Given the description of an element on the screen output the (x, y) to click on. 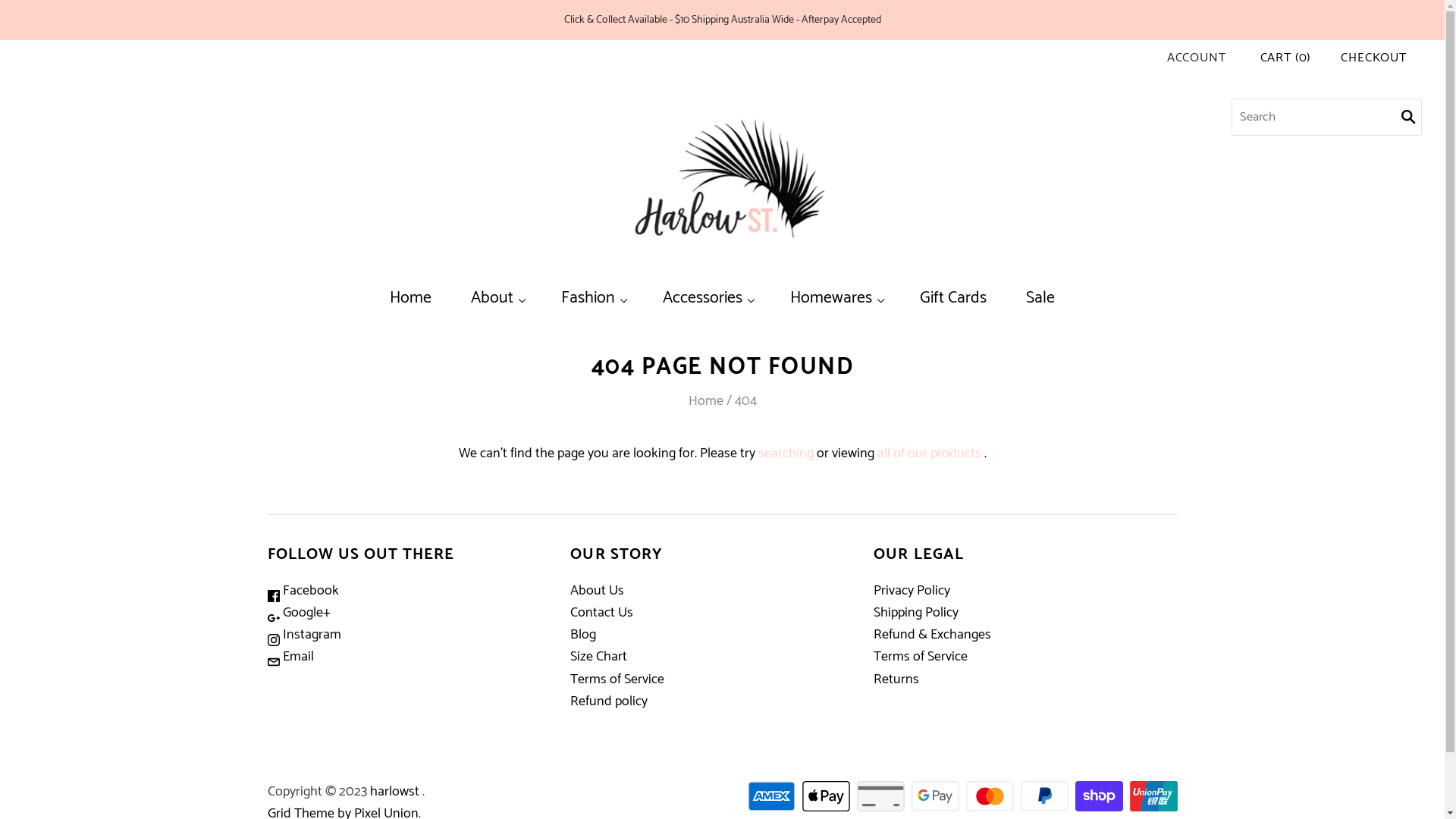
Accessories Element type: text (706, 298)
Terms of Service Element type: text (920, 656)
Gift Cards Element type: text (953, 298)
all of our products Element type: text (928, 453)
searching Element type: text (785, 453)
Home Element type: text (705, 400)
Returns Element type: text (896, 679)
Shipping Policy Element type: text (915, 612)
Instagram Element type: text (303, 634)
CART (0) Element type: text (1285, 57)
Blog Element type: text (583, 634)
Fashion Element type: text (592, 298)
Contact Us Element type: text (601, 612)
ACCOUNT Element type: text (1196, 57)
Refund policy Element type: text (608, 701)
Email Element type: text (289, 656)
About Element type: text (496, 298)
harlowst Element type: text (394, 791)
About Us Element type: text (597, 590)
Facebook Element type: text (302, 590)
Sale Element type: text (1040, 298)
Privacy Policy Element type: text (911, 590)
Size Chart Element type: text (598, 656)
Refund & Exchanges Element type: text (932, 634)
Google+ Element type: text (297, 612)
CHECKOUT Element type: text (1373, 57)
Home Element type: text (410, 298)
Terms of Service Element type: text (617, 679)
Homewares Element type: text (835, 298)
